Given the description of an element on the screen output the (x, y) to click on. 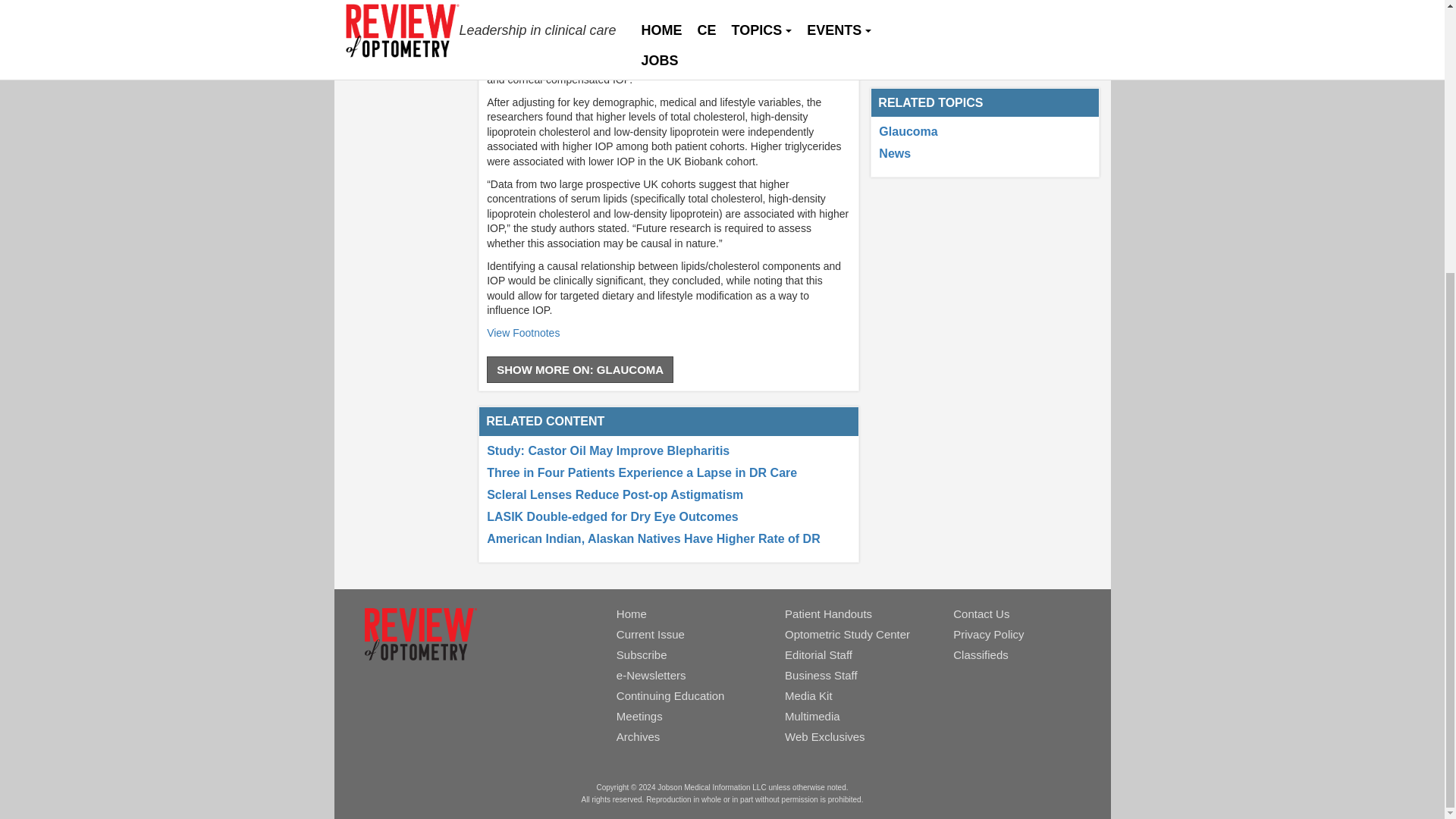
SHOW MORE ON: GLAUCOMA (579, 369)
Study: Castor Oil May Improve Blepharitis (607, 450)
LASIK Double-edged for Dry Eye Outcomes (612, 516)
View Footnotes (522, 332)
Three in Four Patients Experience a Lapse in DR Care (641, 472)
Scleral Lenses Reduce Post-op Astigmatism (614, 494)
